Given the description of an element on the screen output the (x, y) to click on. 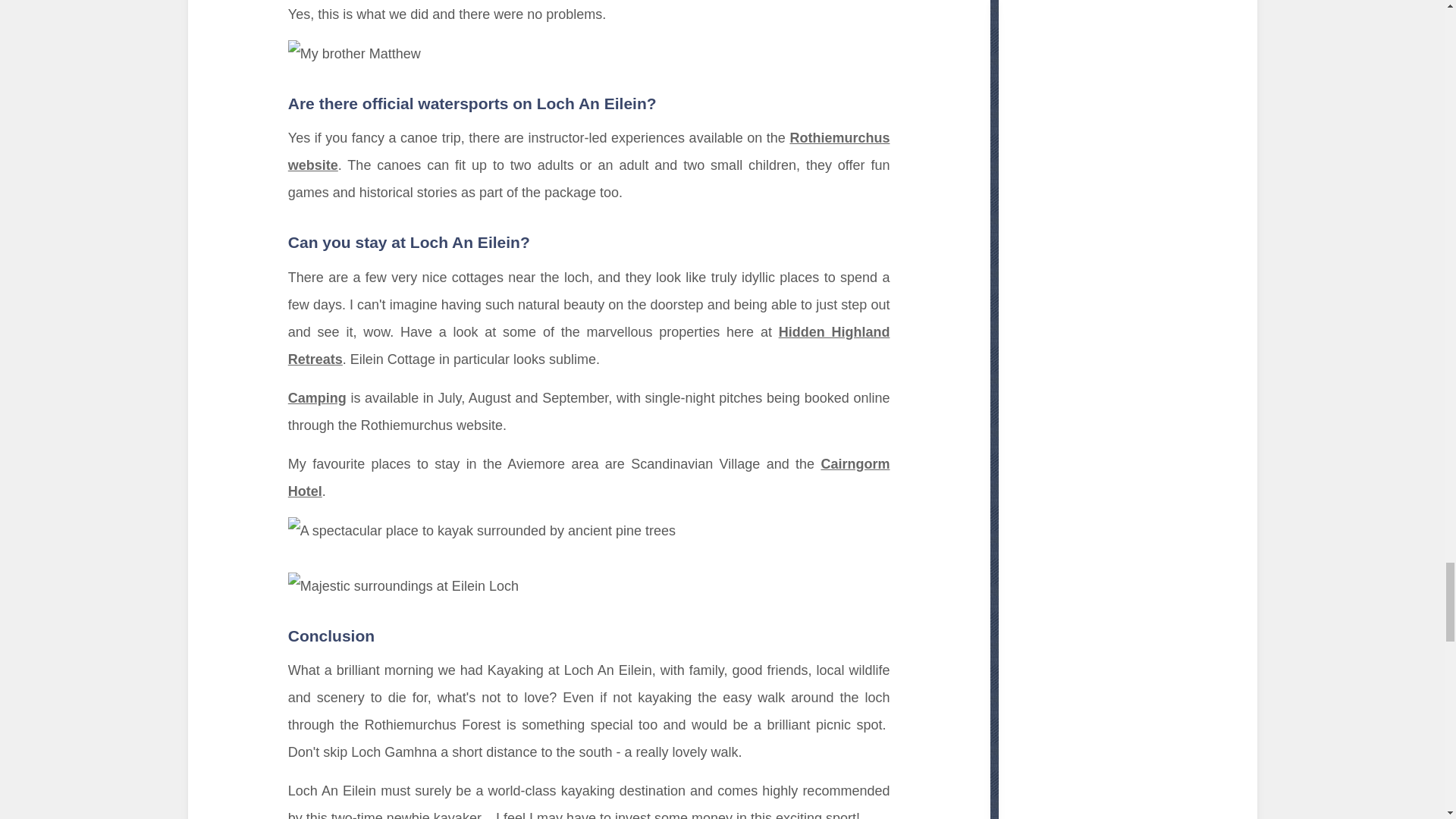
Hidden Highland Retreats (588, 345)
Camping (317, 397)
Cairngorm Hotel (588, 477)
Rothiemurchus website (588, 151)
